Given the description of an element on the screen output the (x, y) to click on. 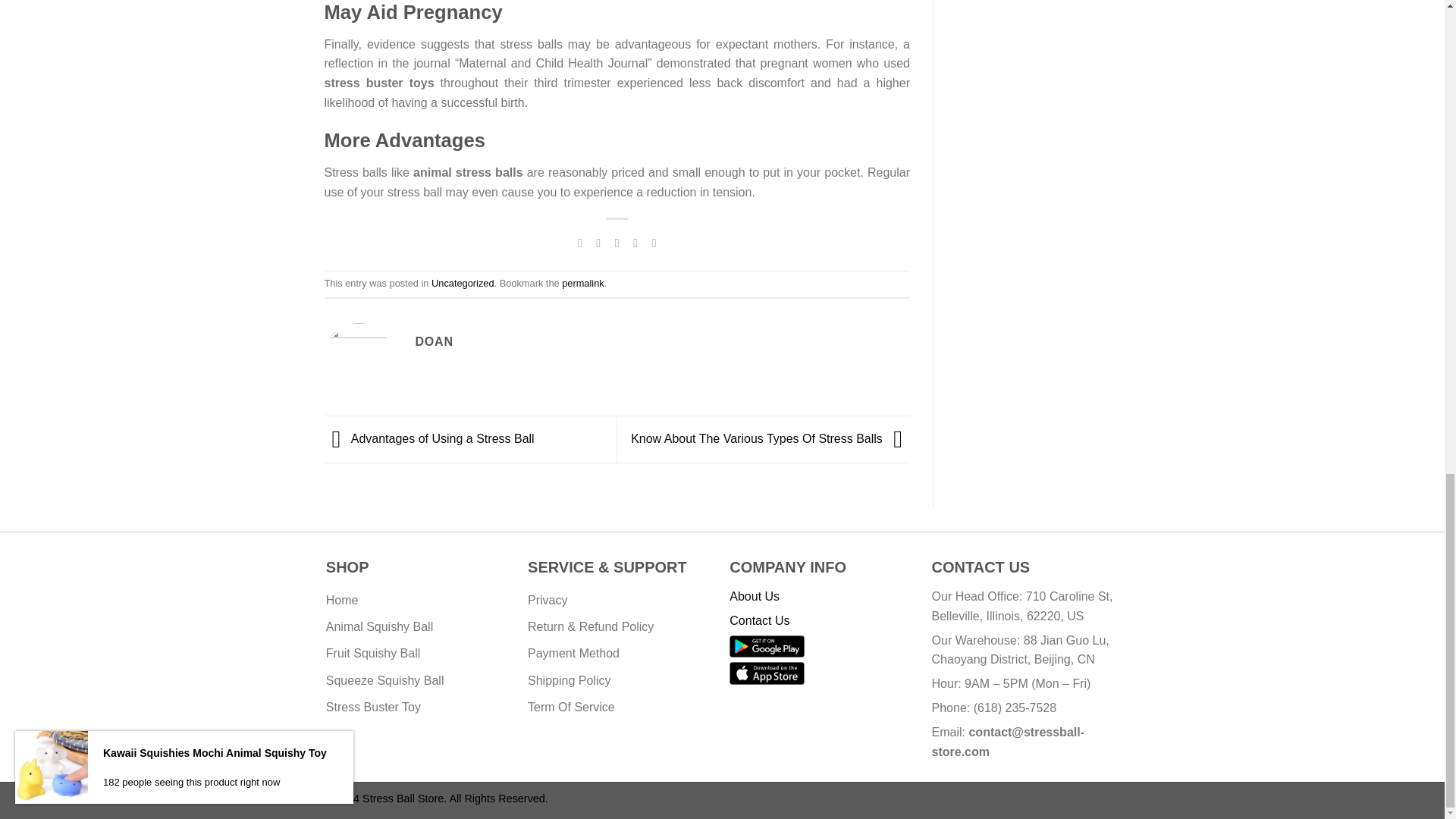
Uncategorized (462, 283)
Share on LinkedIn (654, 242)
Pin on Pinterest (635, 242)
permalink (583, 283)
Advantages of Using a Stress Ball (429, 438)
Email to a Friend (617, 242)
Share on Facebook (579, 242)
Share on Twitter (598, 242)
